Given the description of an element on the screen output the (x, y) to click on. 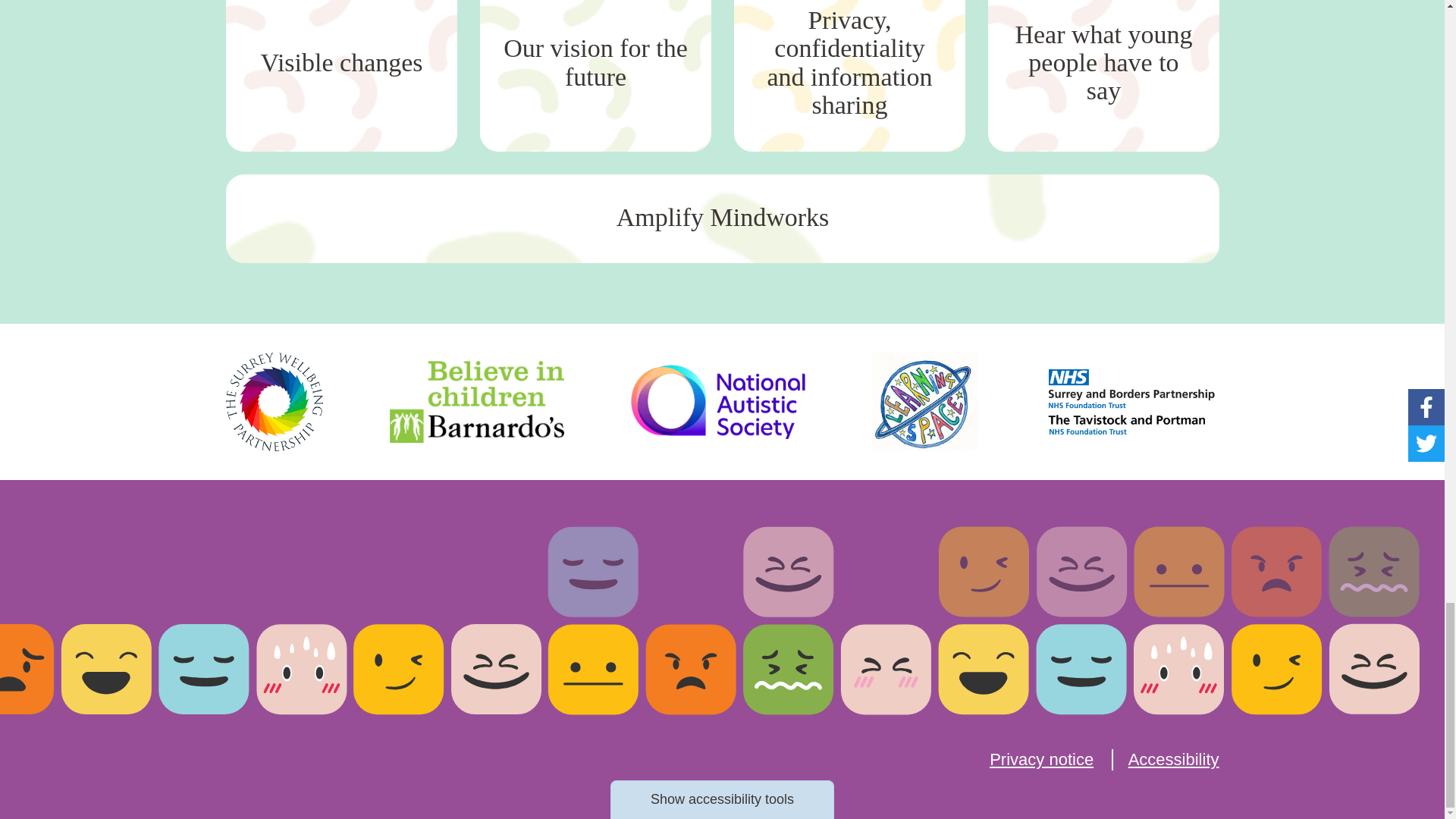
Our vision for the future (594, 75)
Privacy, confidentiality and information sharing (849, 75)
Visible changes (341, 75)
Amplify Mindworks (722, 218)
Hear what young people have to say (1102, 75)
National Autistic Society (717, 401)
Barnardo's (477, 402)
The Surrey Wellbeing Partnership (274, 401)
